Given the description of an element on the screen output the (x, y) to click on. 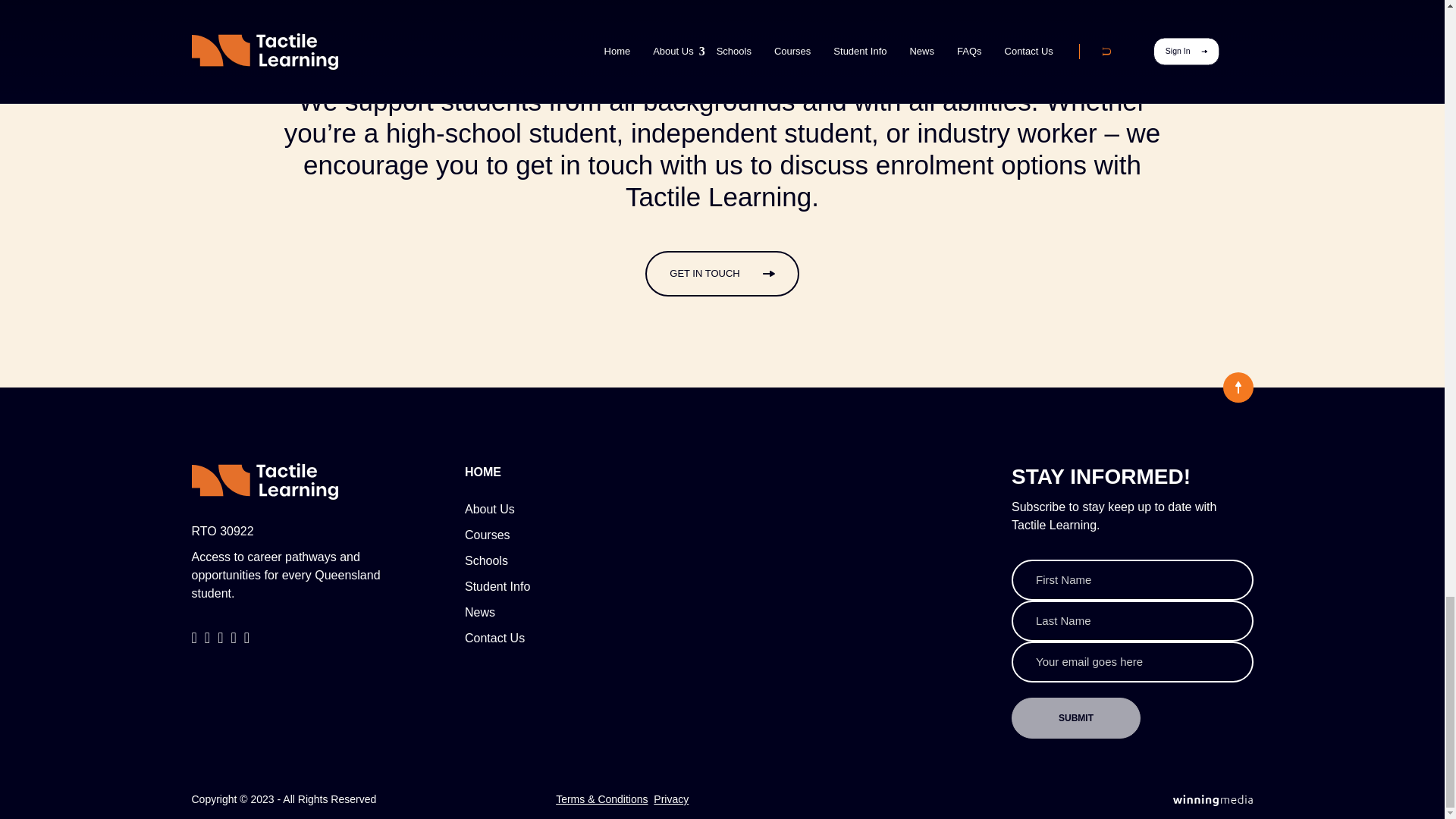
SUBMIT (1075, 717)
